Given the description of an element on the screen output the (x, y) to click on. 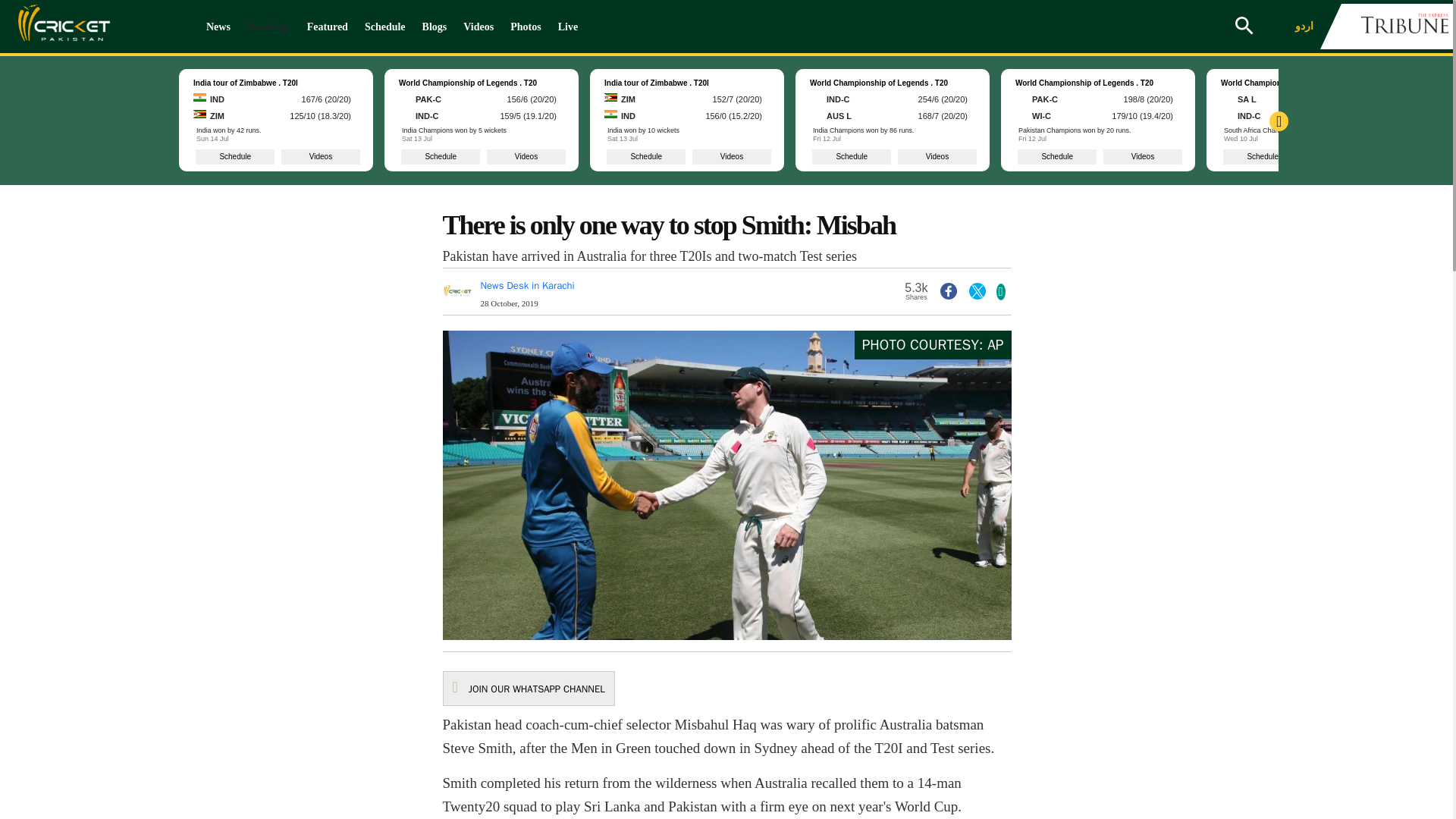
Featured (327, 26)
Videos (477, 26)
Photos (525, 26)
Blogs (434, 26)
News (218, 26)
Live (567, 26)
Schedule (384, 26)
Rankings (269, 26)
